Given the description of an element on the screen output the (x, y) to click on. 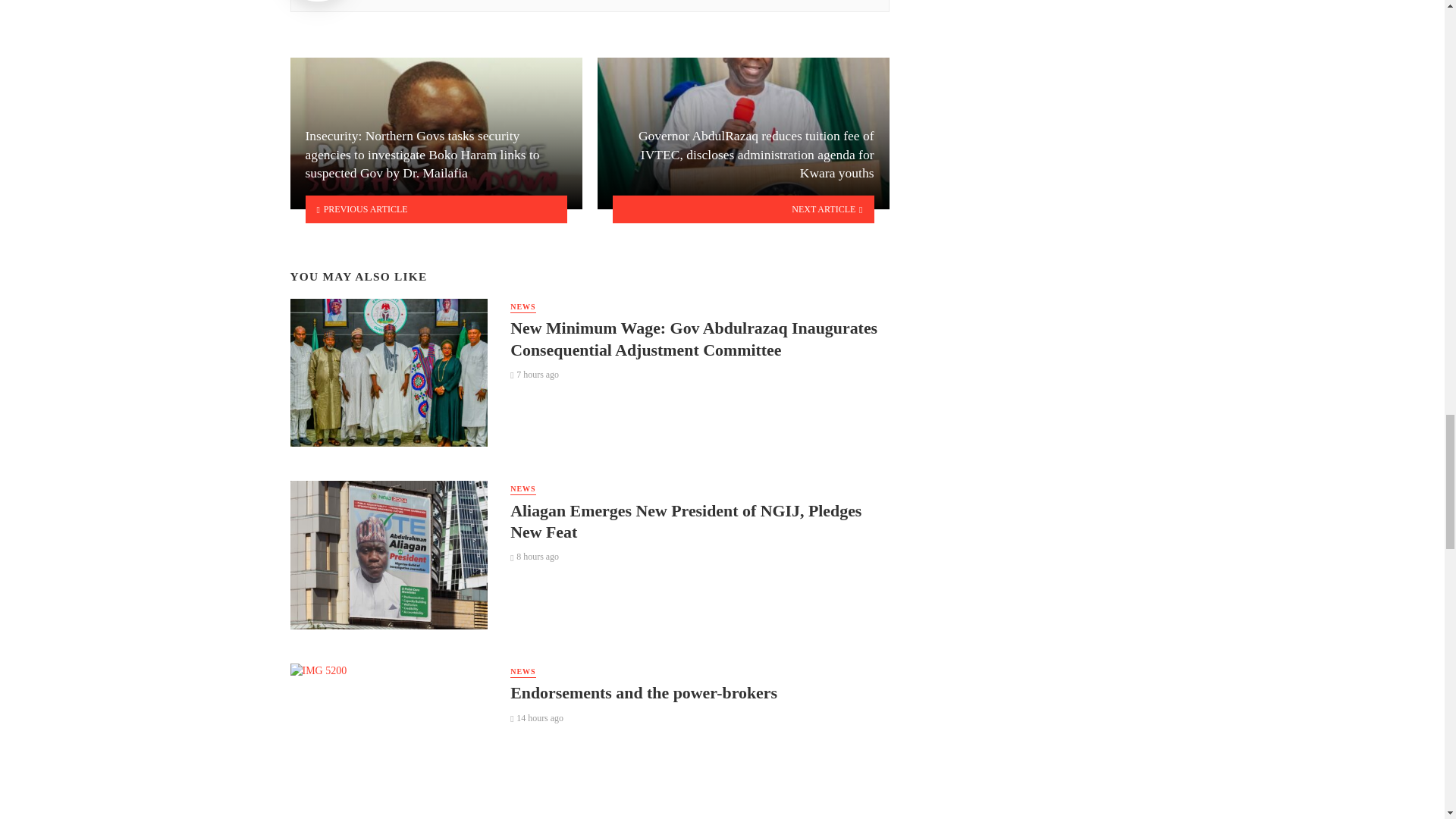
August 3, 2024 at 1:05 pm (535, 374)
